Given the description of an element on the screen output the (x, y) to click on. 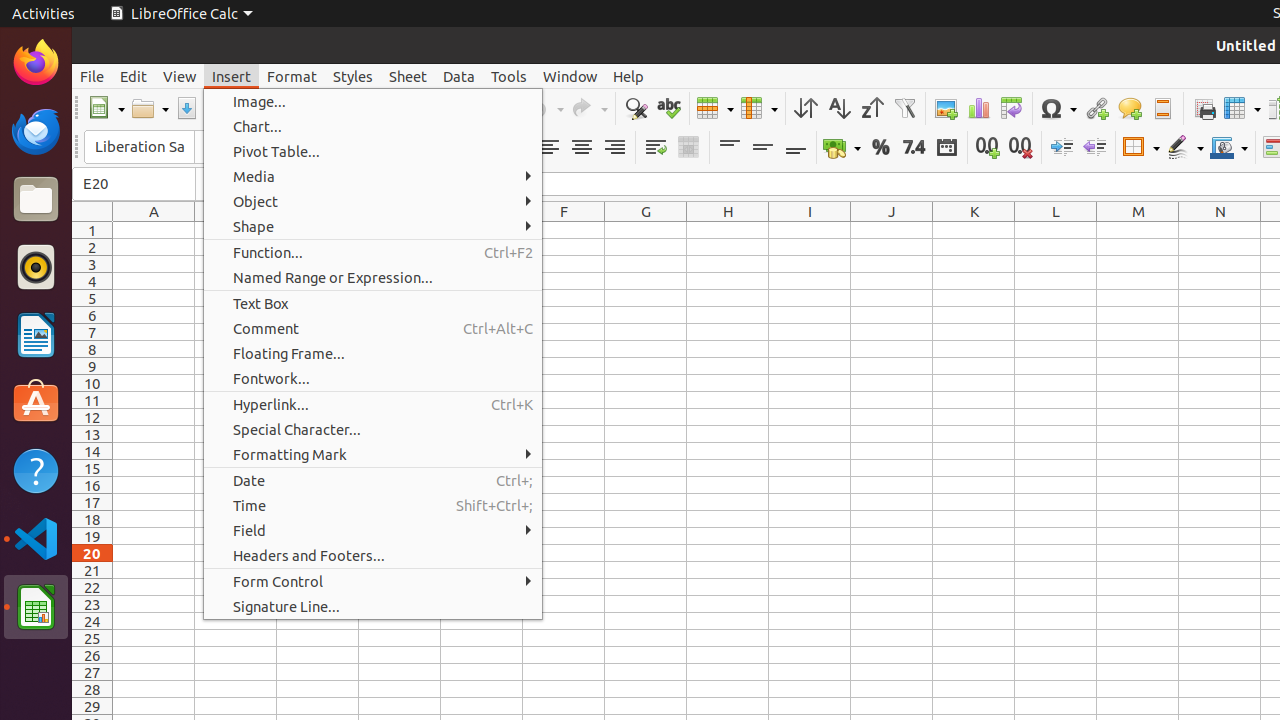
Sort Ascending Element type: push-button (838, 108)
Find & Replace Element type: toggle-button (635, 108)
N1 Element type: table-cell (1220, 230)
Named Range or Expression... Element type: menu-item (373, 277)
Comment Element type: push-button (1129, 108)
